Given the description of an element on the screen output the (x, y) to click on. 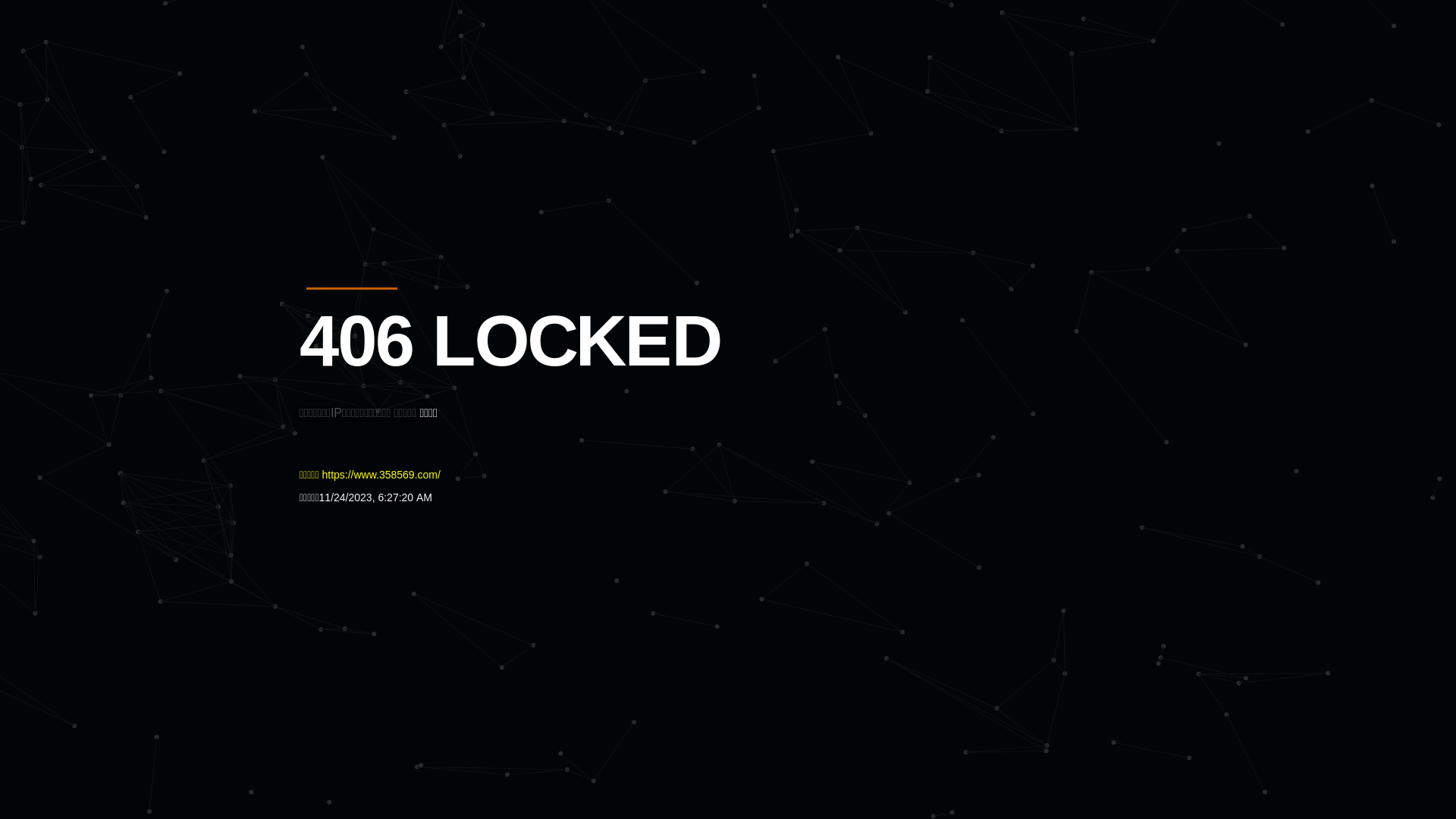
Quatro Element type: text (410, 86)
